Given the description of an element on the screen output the (x, y) to click on. 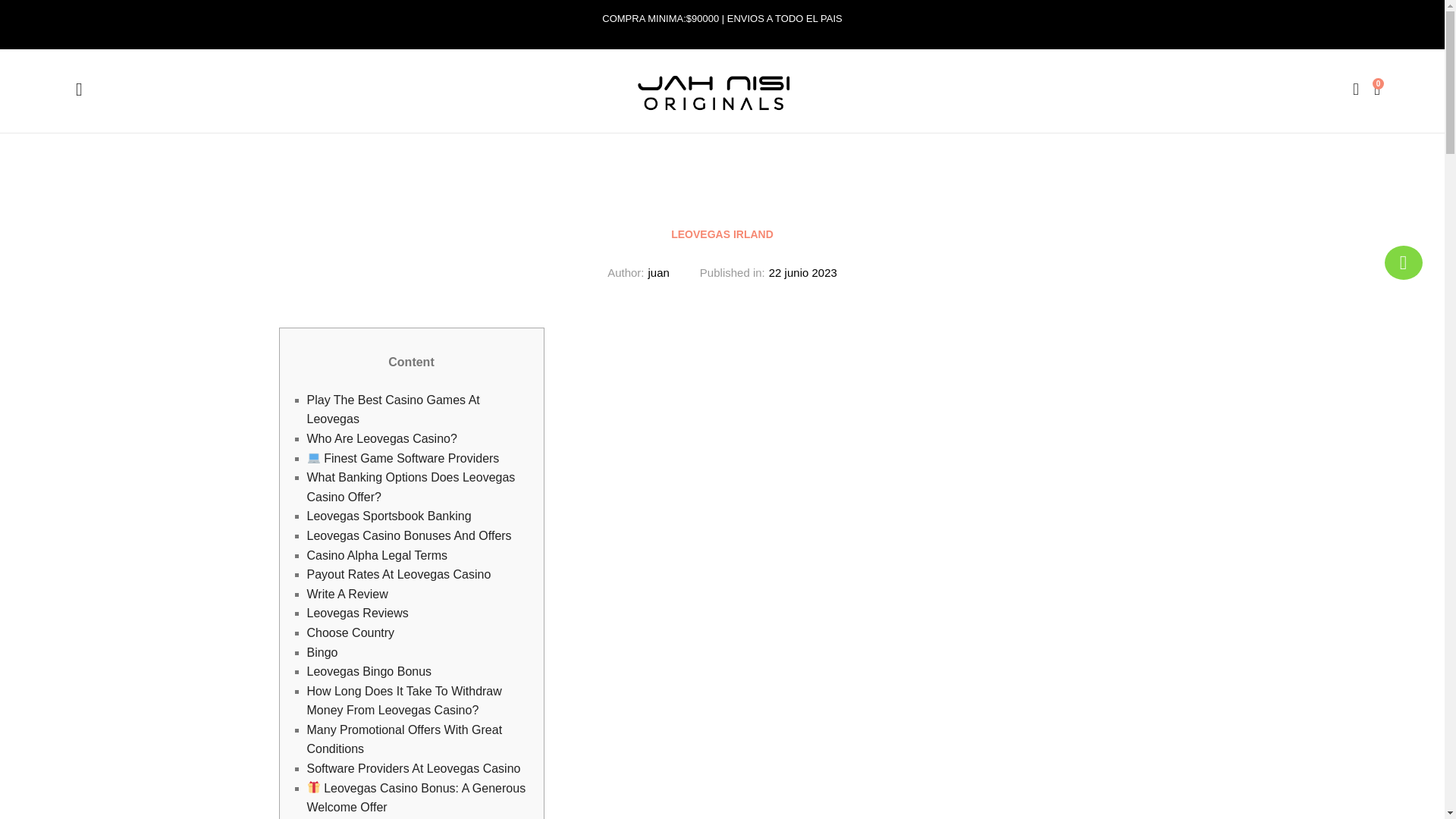
Payout Rates At Leovegas Casino (397, 574)
Finest Game Software Providers (402, 458)
Bingo (321, 652)
Leovegas Casino Bonuses And Offers (408, 535)
Leovegas Sportsbook Banking (387, 515)
Choose Country (349, 632)
Who Are Leovegas Casino? (381, 438)
Casino Alpha Legal Terms (375, 554)
LEOVEGAS IRLAND (722, 234)
22 junio 2023 (802, 272)
Software Providers At Leovegas Casino (412, 768)
Play The Best Casino Games At Leovegas (392, 409)
Write A Review (346, 594)
Leovegas Bingo Bonus (367, 671)
Leovegas Reviews (356, 612)
